Given the description of an element on the screen output the (x, y) to click on. 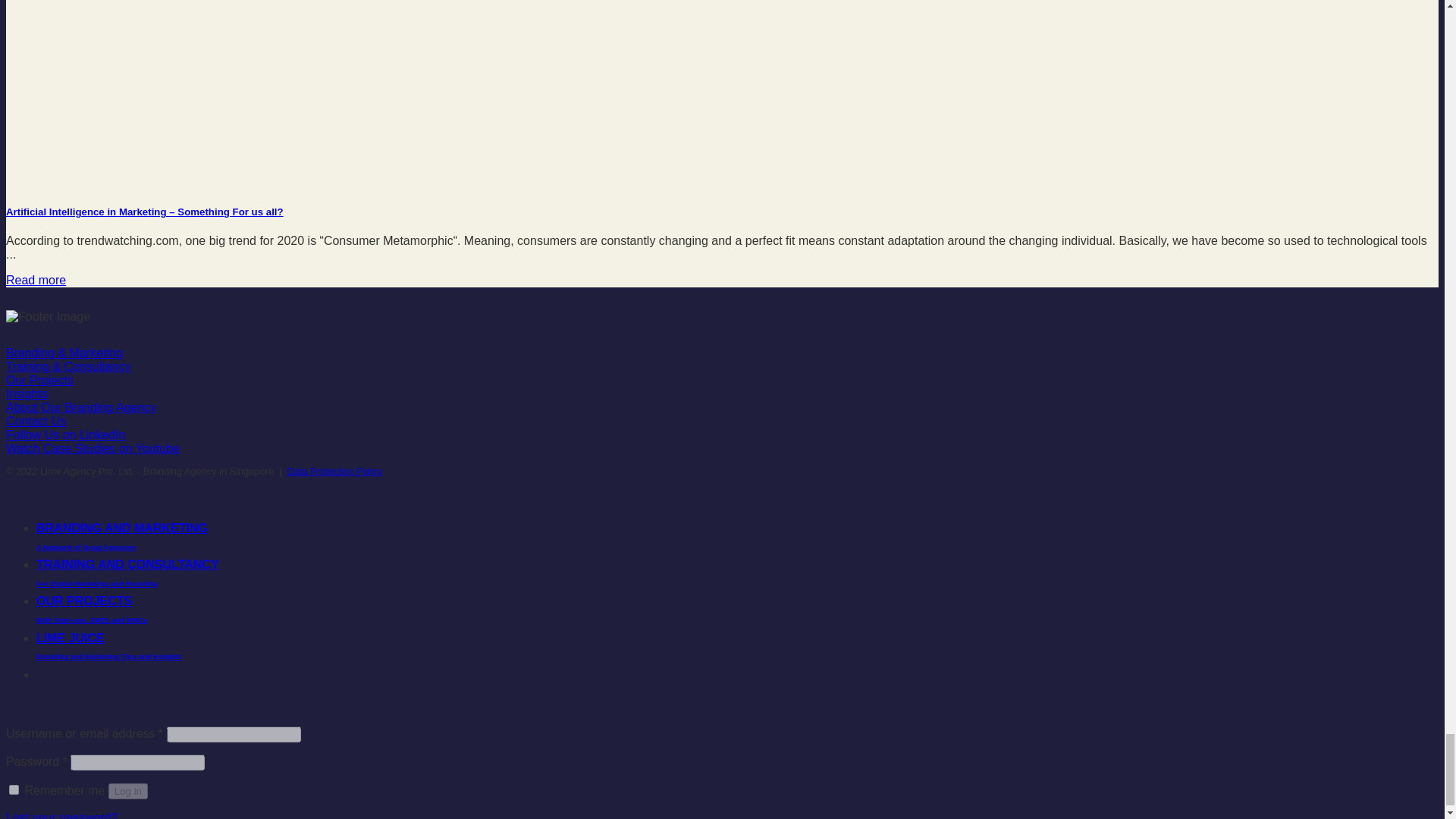
forever (13, 789)
